Given the description of an element on the screen output the (x, y) to click on. 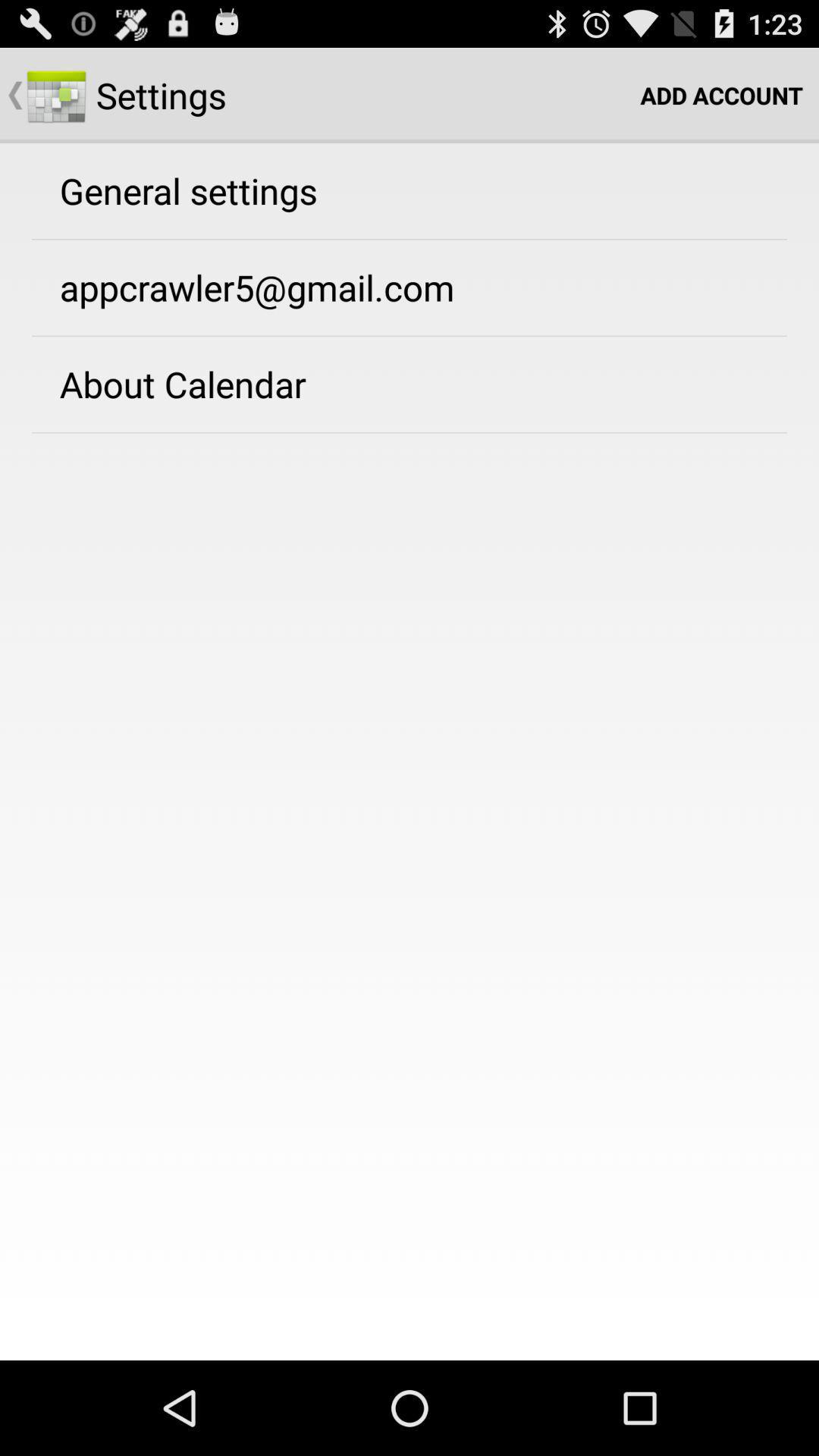
press the icon at the top right corner (721, 95)
